Given the description of an element on the screen output the (x, y) to click on. 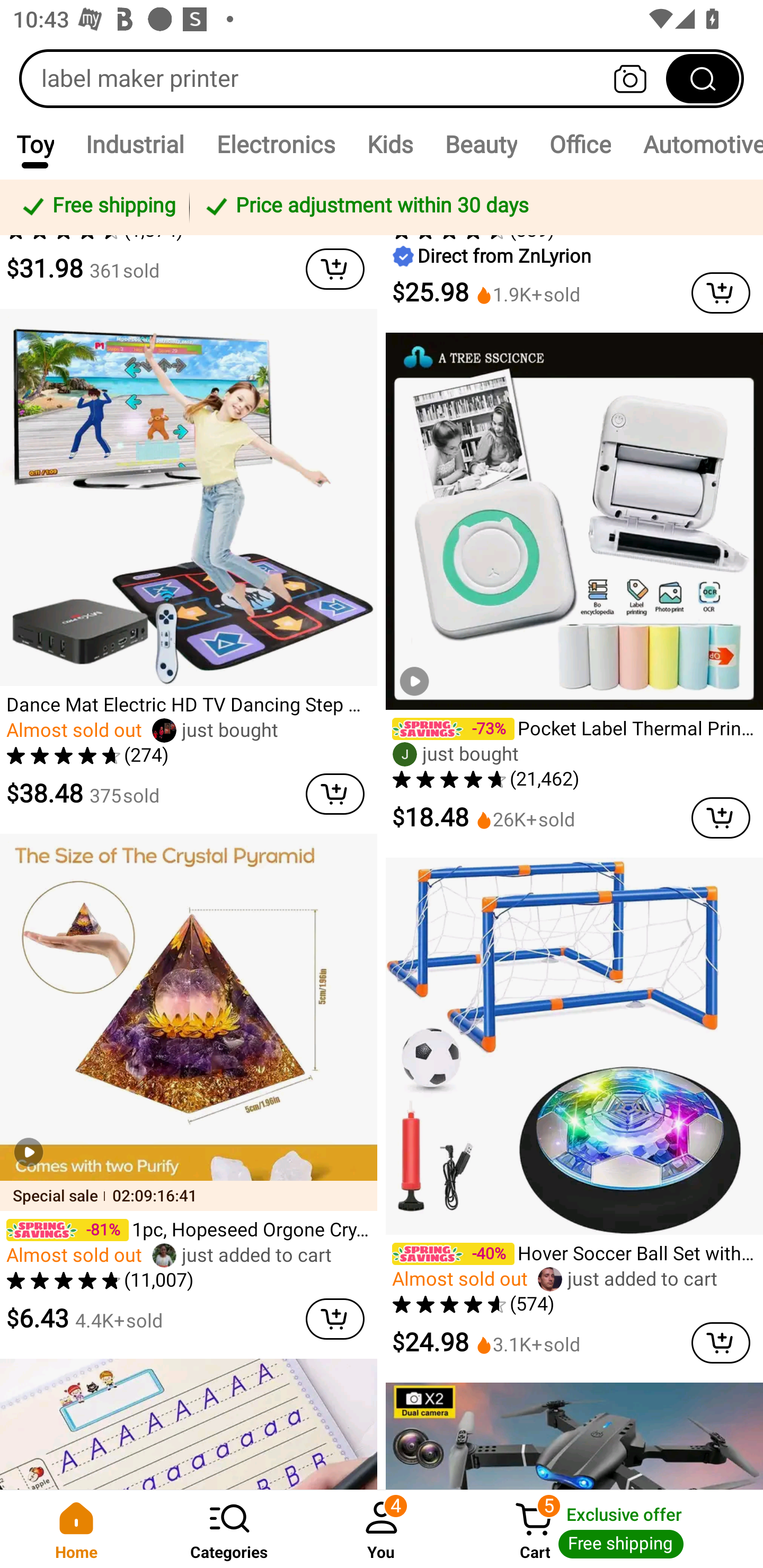
label maker printer (381, 78)
Toy (35, 144)
Industrial (134, 144)
Electronics (274, 144)
Kids (389, 144)
Beauty (480, 144)
Office (580, 144)
Automotive (695, 144)
Free shipping (97, 206)
Price adjustment within 30 days (472, 206)
cart delete (334, 268)
cart delete (720, 292)
cart delete (334, 794)
cart delete (720, 817)
cart delete (334, 1318)
cart delete (720, 1342)
Home (76, 1528)
Categories (228, 1528)
You 4 You (381, 1528)
Cart 5 Cart Exclusive offer (610, 1528)
